Given the description of an element on the screen output the (x, y) to click on. 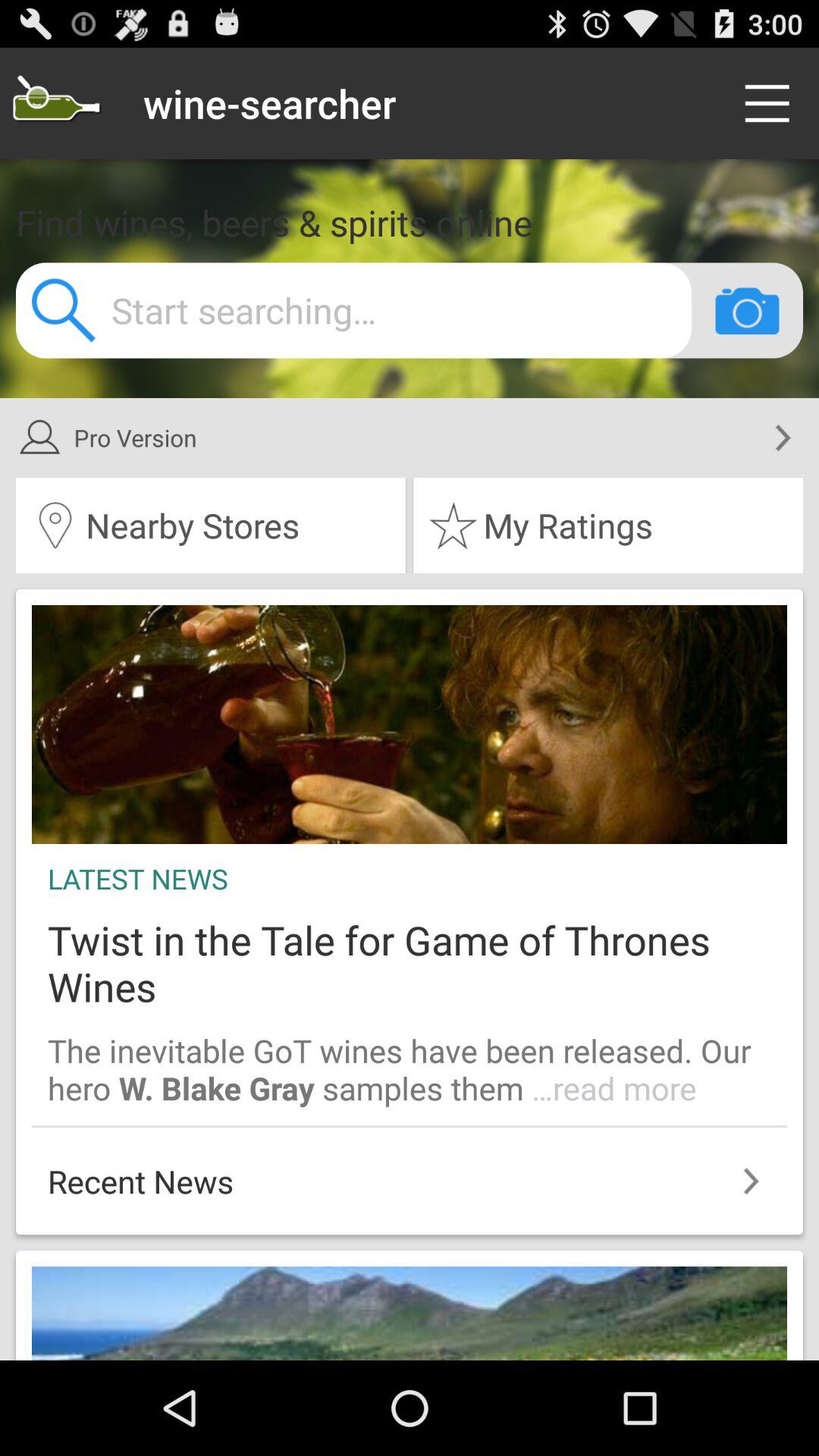
click item below the pro version item (210, 525)
